Given the description of an element on the screen output the (x, y) to click on. 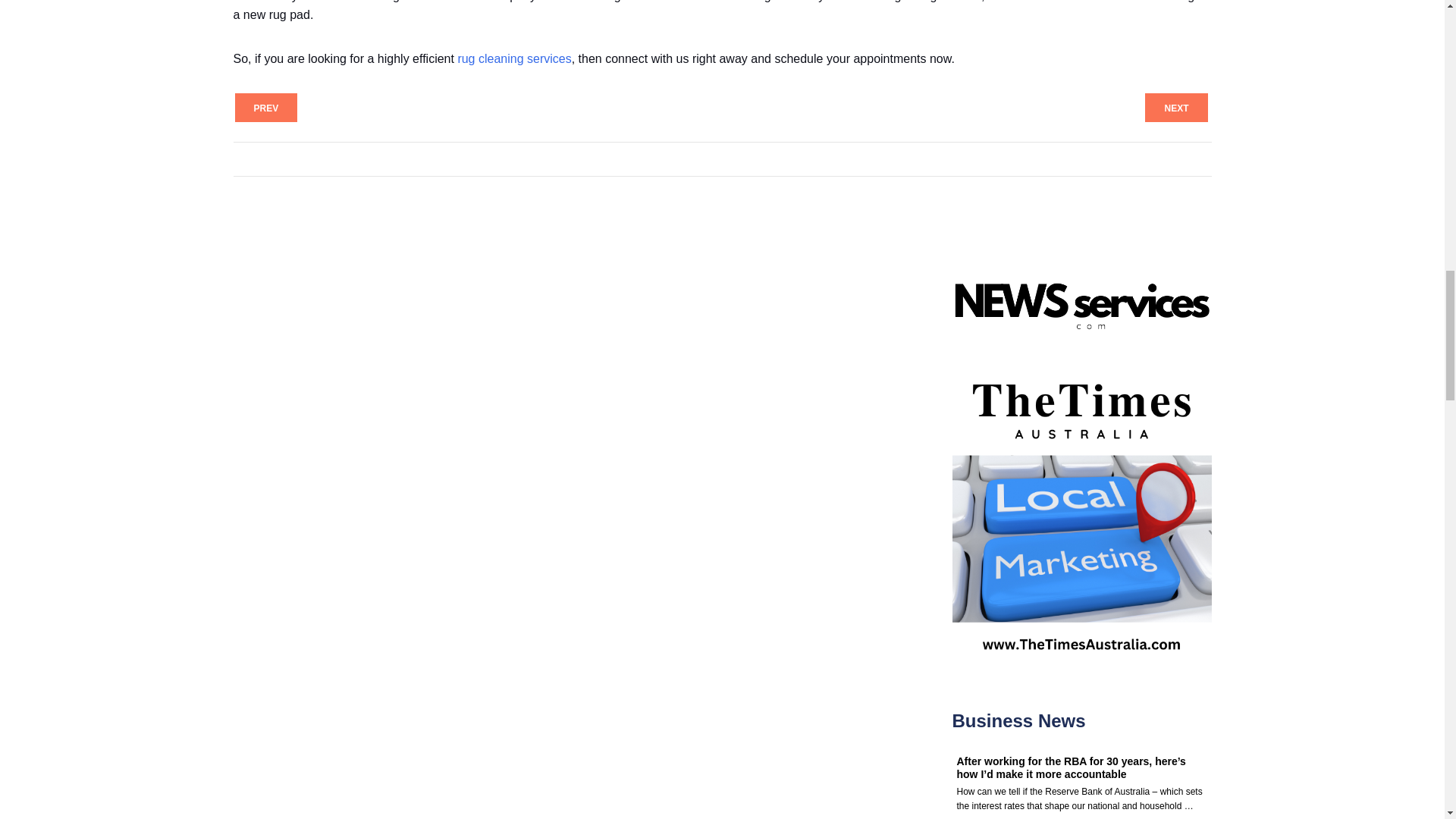
PREV (266, 107)
rug cleaning services (513, 58)
NEXT (1175, 107)
